Given the description of an element on the screen output the (x, y) to click on. 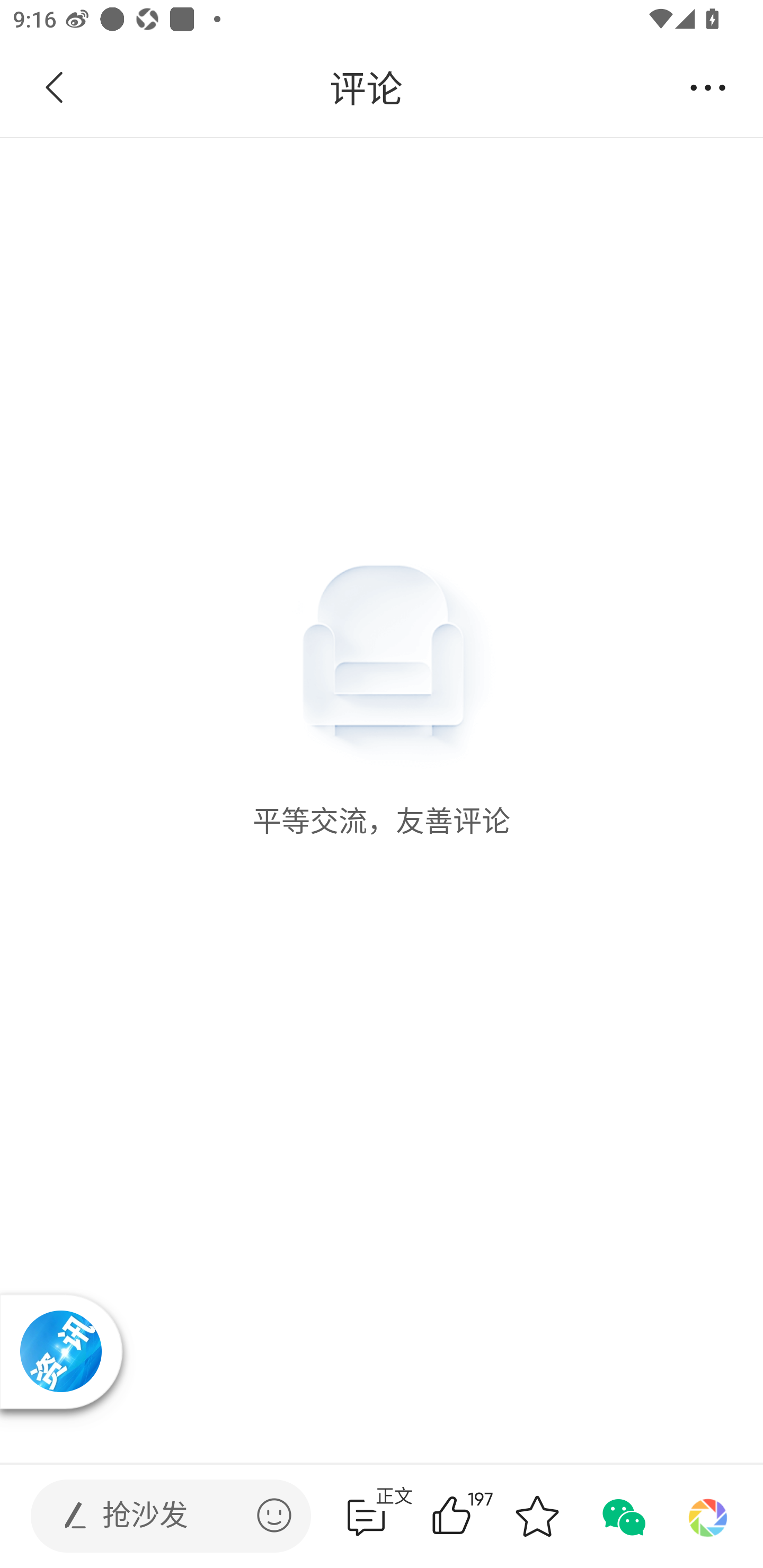
评论 (365, 87)
分享  (707, 87)
 返回 (54, 87)
平等交流，友善评论 (381, 487)
播放器 (60, 1351)
发表评论  抢沙发 发表评论  (155, 1516)
抢评论  抢 评论 (365, 1516)
197赞 (476, 1516)
收藏  (536, 1516)
分享到微信  (622, 1516)
分享到朋友圈 (707, 1516)
 (274, 1515)
